Given the description of an element on the screen output the (x, y) to click on. 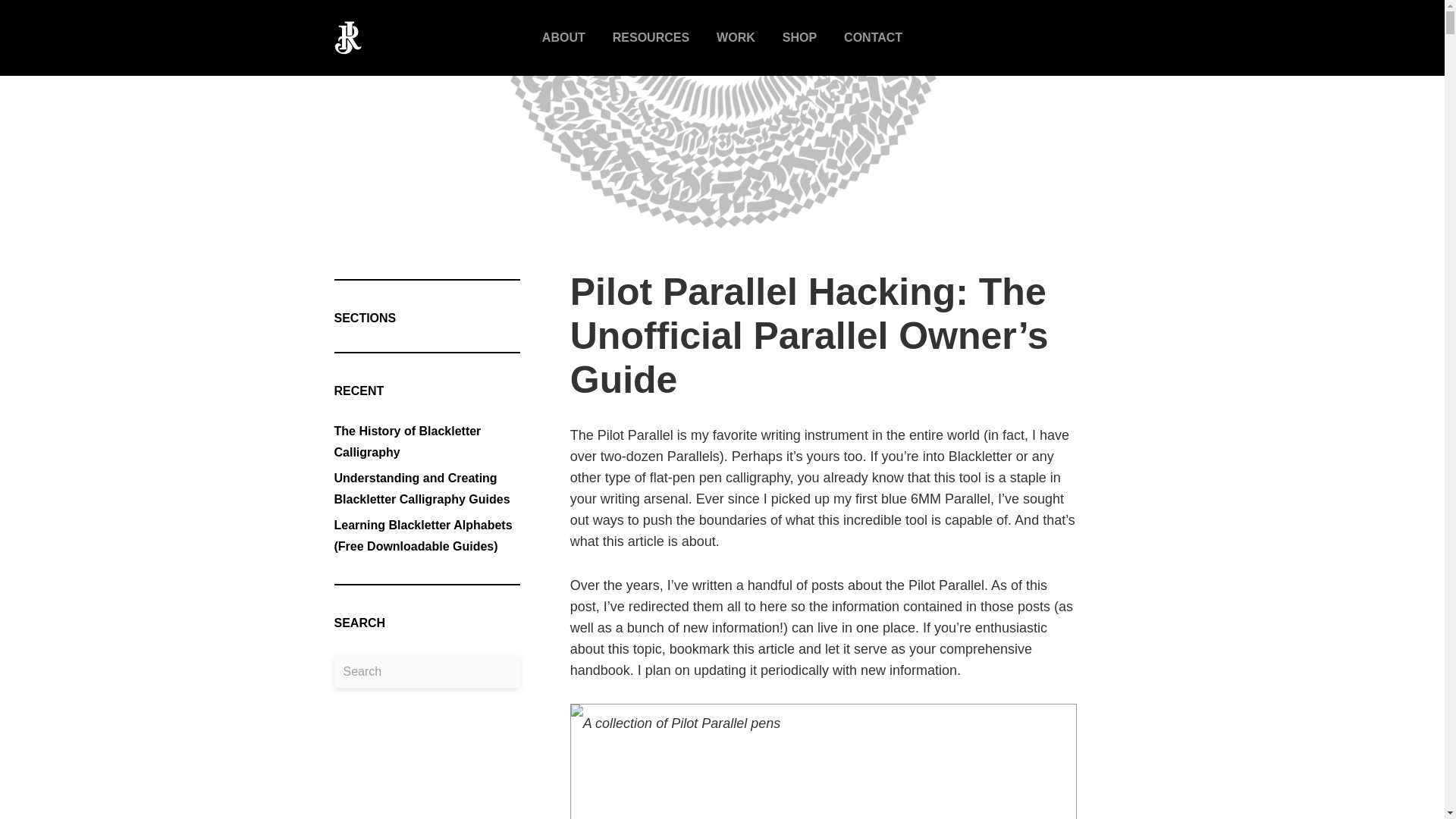
Understanding and Creating Blackletter Calligraphy Guides (421, 488)
SHOP (799, 37)
The History of Blackletter Calligraphy (406, 441)
CONTACT (873, 37)
ABOUT (563, 37)
RESOURCES (650, 37)
WORK (735, 37)
